Given the description of an element on the screen output the (x, y) to click on. 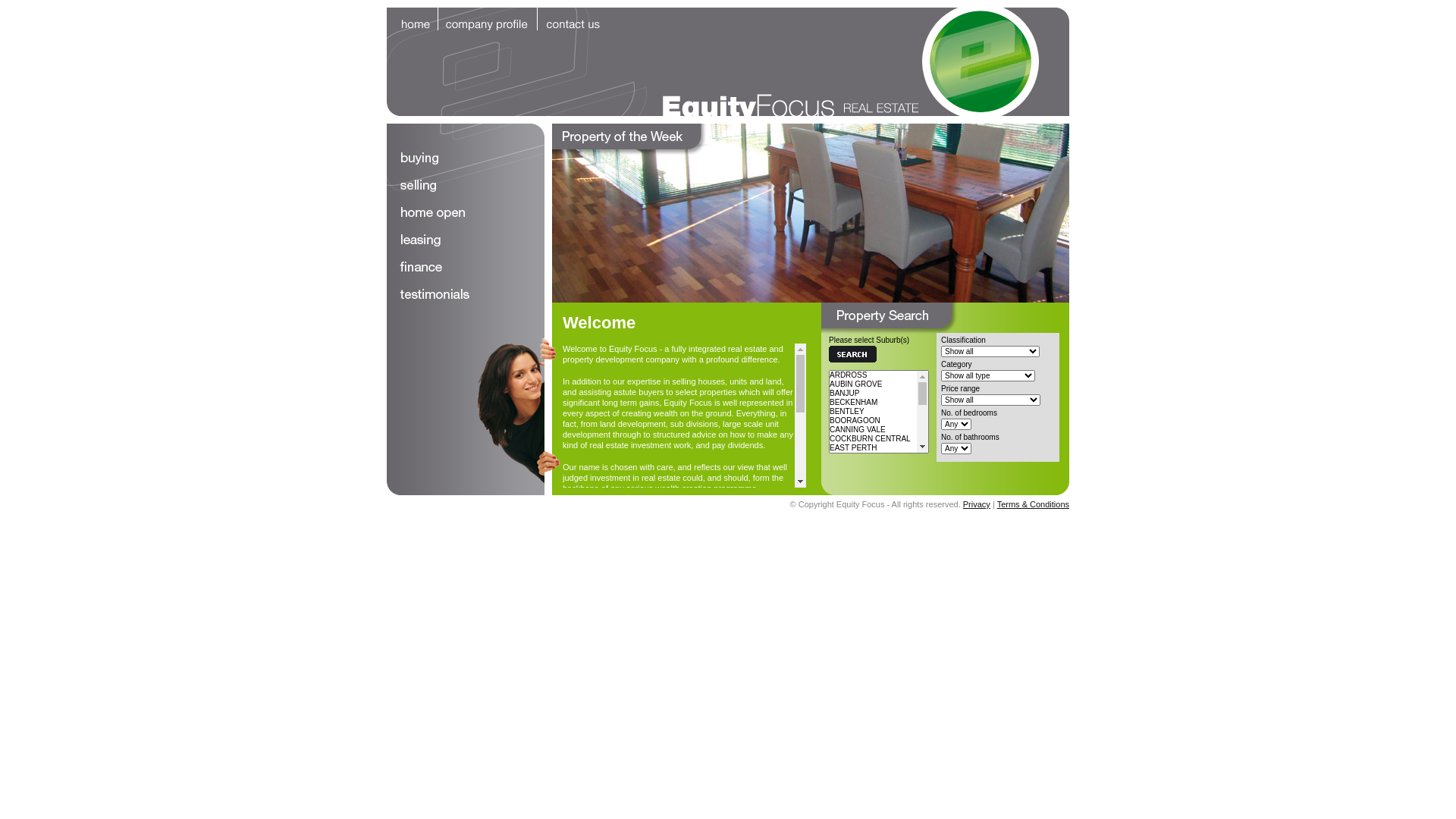
contact us Element type: text (572, 18)
company profile Element type: text (487, 18)
Buying Element type: text (810, 212)
finance Element type: text (465, 267)
home Element type: text (412, 18)
buying Element type: text (465, 158)
Privacy Element type: text (976, 503)
home open Element type: text (465, 212)
Terms & Conditions Element type: text (1033, 503)
leasing Element type: text (465, 240)
View client testimonials Element type: text (605, 606)
selling Element type: text (465, 185)
testimonials Element type: text (465, 294)
